Given the description of an element on the screen output the (x, y) to click on. 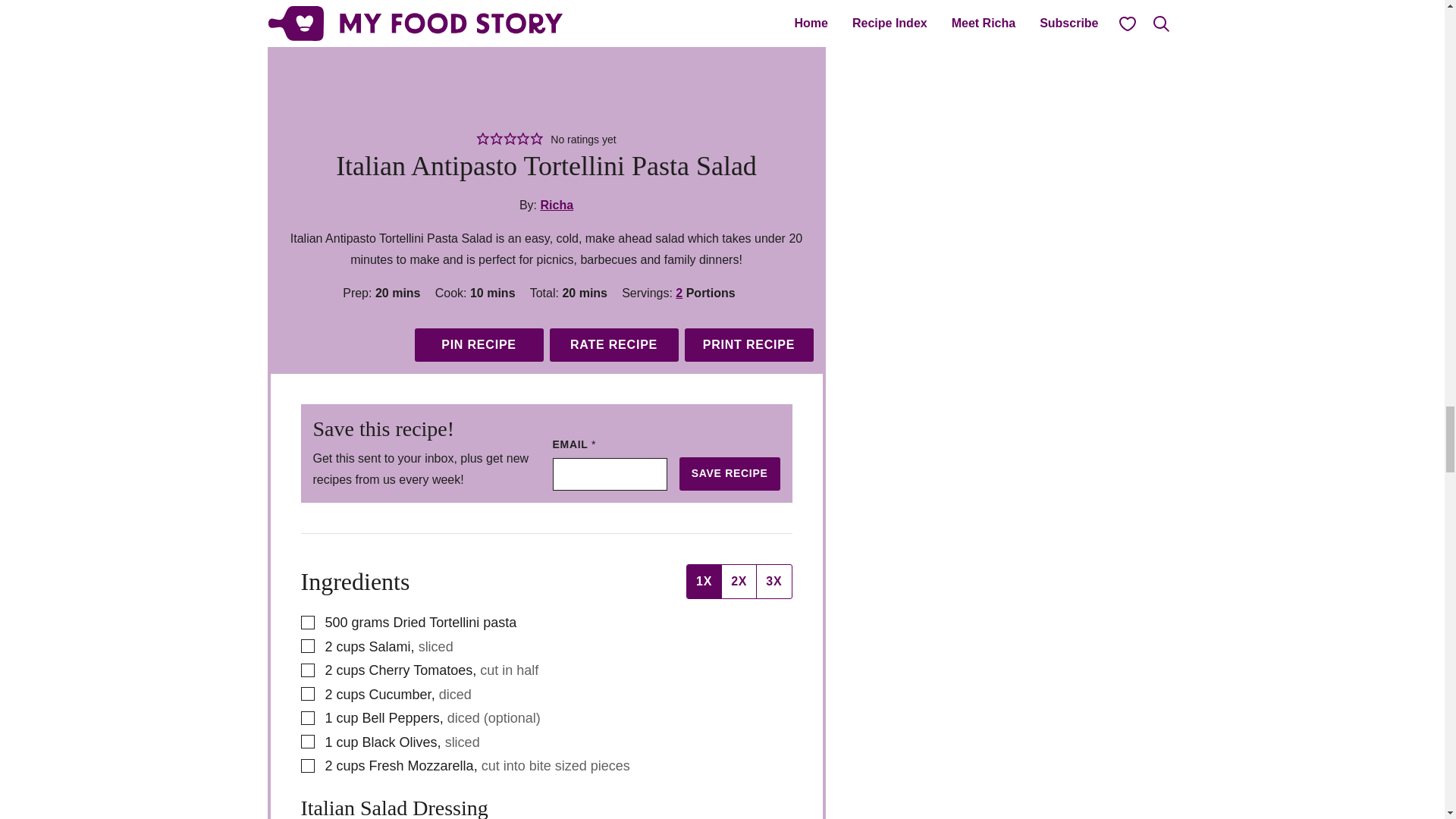
2X (737, 581)
PRINT RECIPE (748, 344)
3X (772, 581)
1X (703, 581)
SAVE RECIPE (729, 473)
RATE RECIPE (613, 344)
PIN RECIPE (478, 344)
Richa (556, 205)
